Given the description of an element on the screen output the (x, y) to click on. 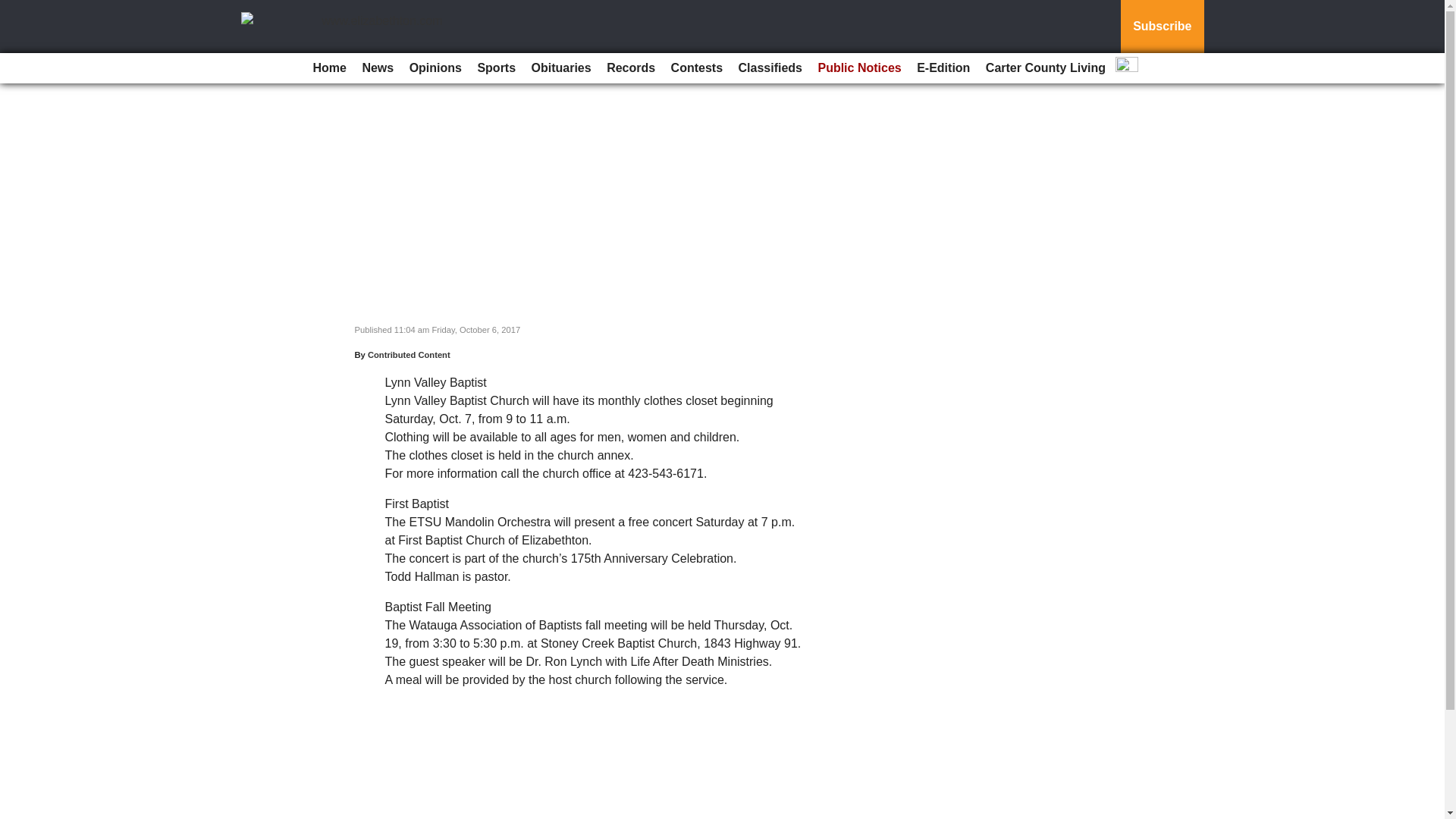
E-Edition (943, 68)
Carter County Living (1045, 68)
Contributed Content (408, 354)
Obituaries (560, 68)
Classifieds (770, 68)
Public Notices (858, 68)
Contests (697, 68)
Go (13, 9)
News (376, 68)
Records (630, 68)
Subscribe (1162, 26)
Opinions (435, 68)
Sports (495, 68)
Home (328, 68)
